Given the description of an element on the screen output the (x, y) to click on. 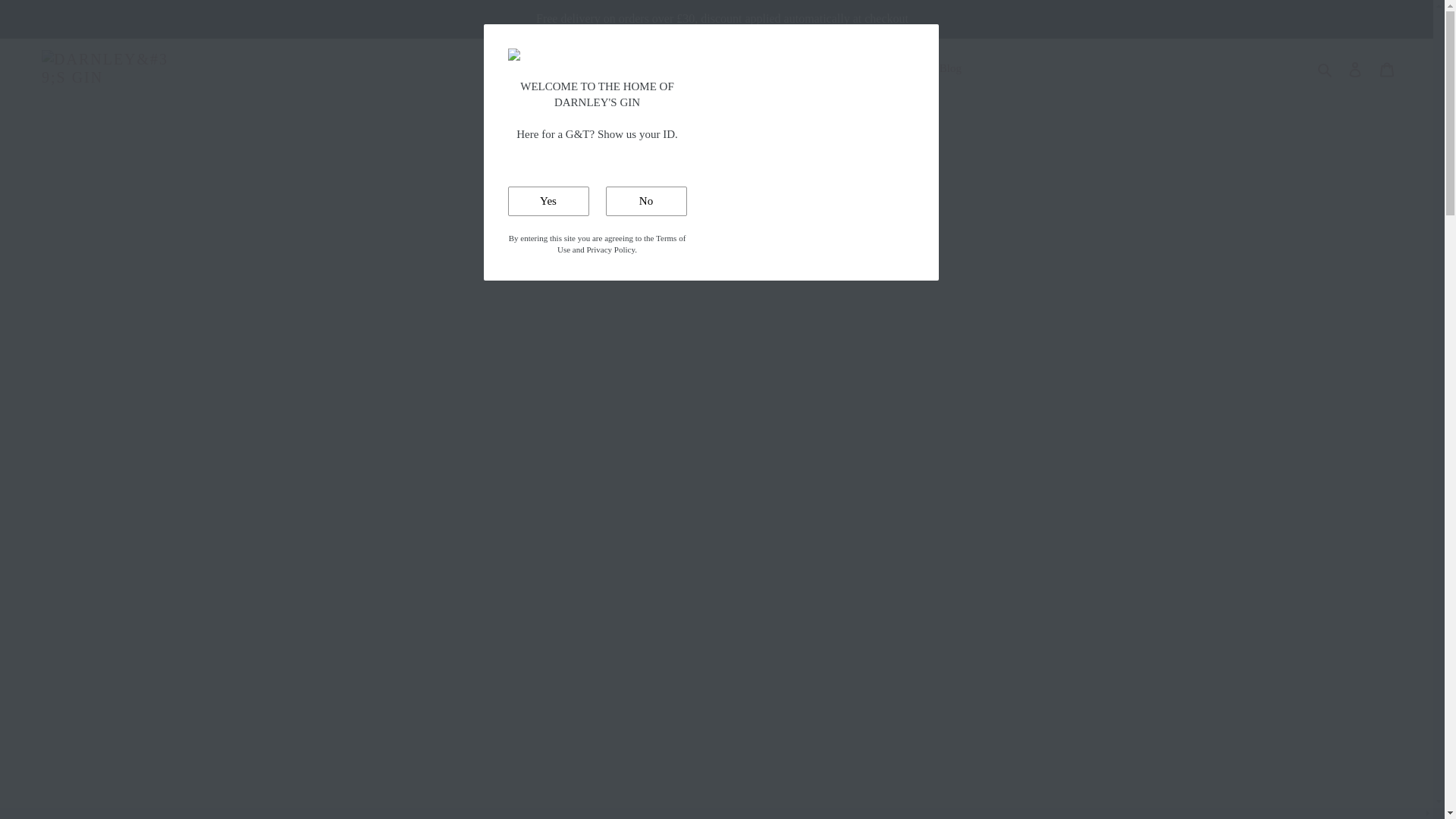
Blog (950, 68)
EU Shop (616, 68)
No (645, 201)
Experiences (688, 68)
Yes (548, 201)
Serves and Stockists (793, 68)
Our Story (892, 68)
